Given the description of an element on the screen output the (x, y) to click on. 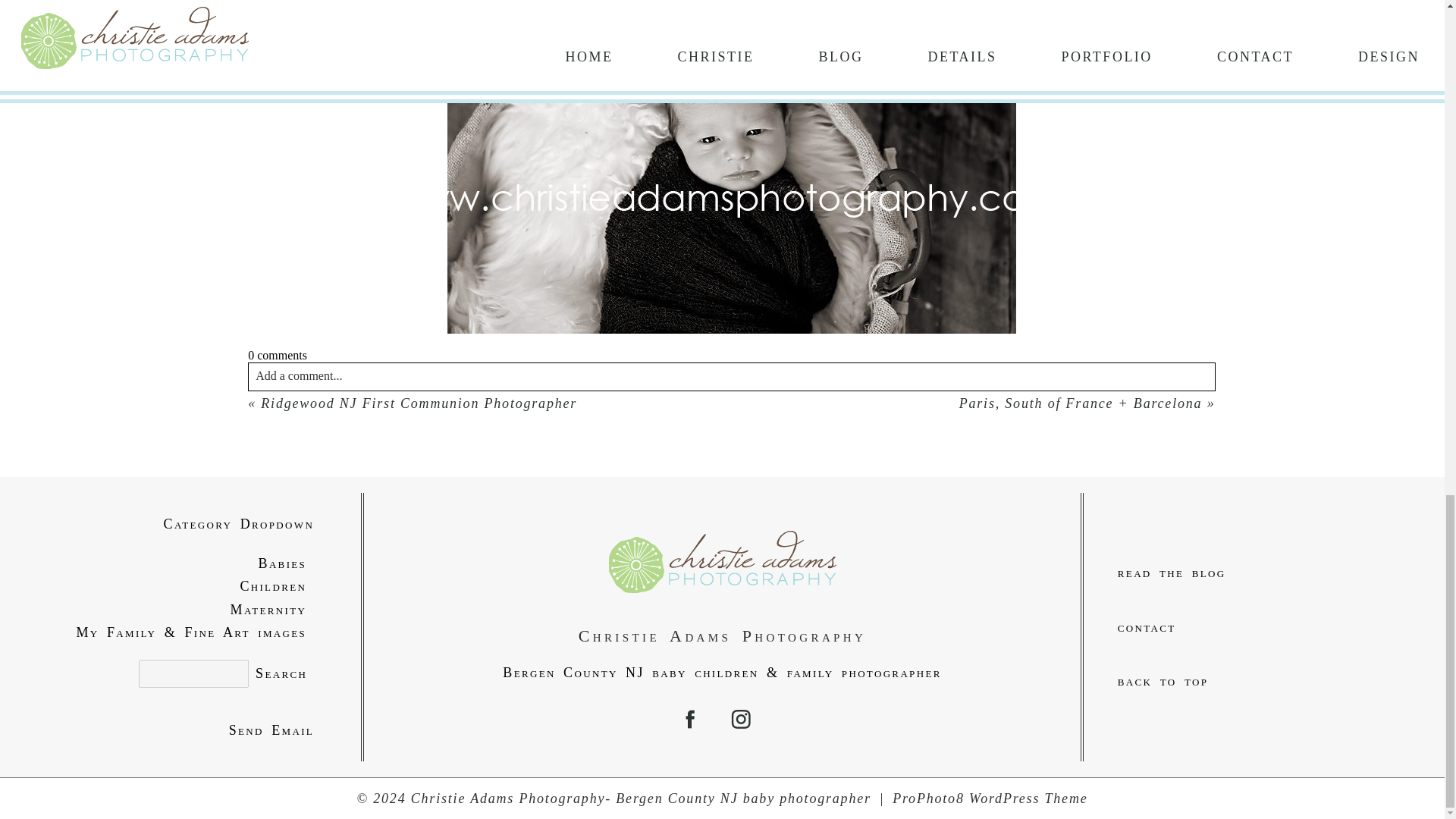
Maternity (180, 609)
ProPhoto Photo Theme (989, 798)
Search (281, 673)
Search (281, 673)
contact (1263, 627)
Search (281, 673)
read the blog (1263, 572)
Ridgewood NJ First Communion Photographer (418, 403)
Send Email (180, 730)
Children (180, 586)
Babies (180, 563)
